Given the description of an element on the screen output the (x, y) to click on. 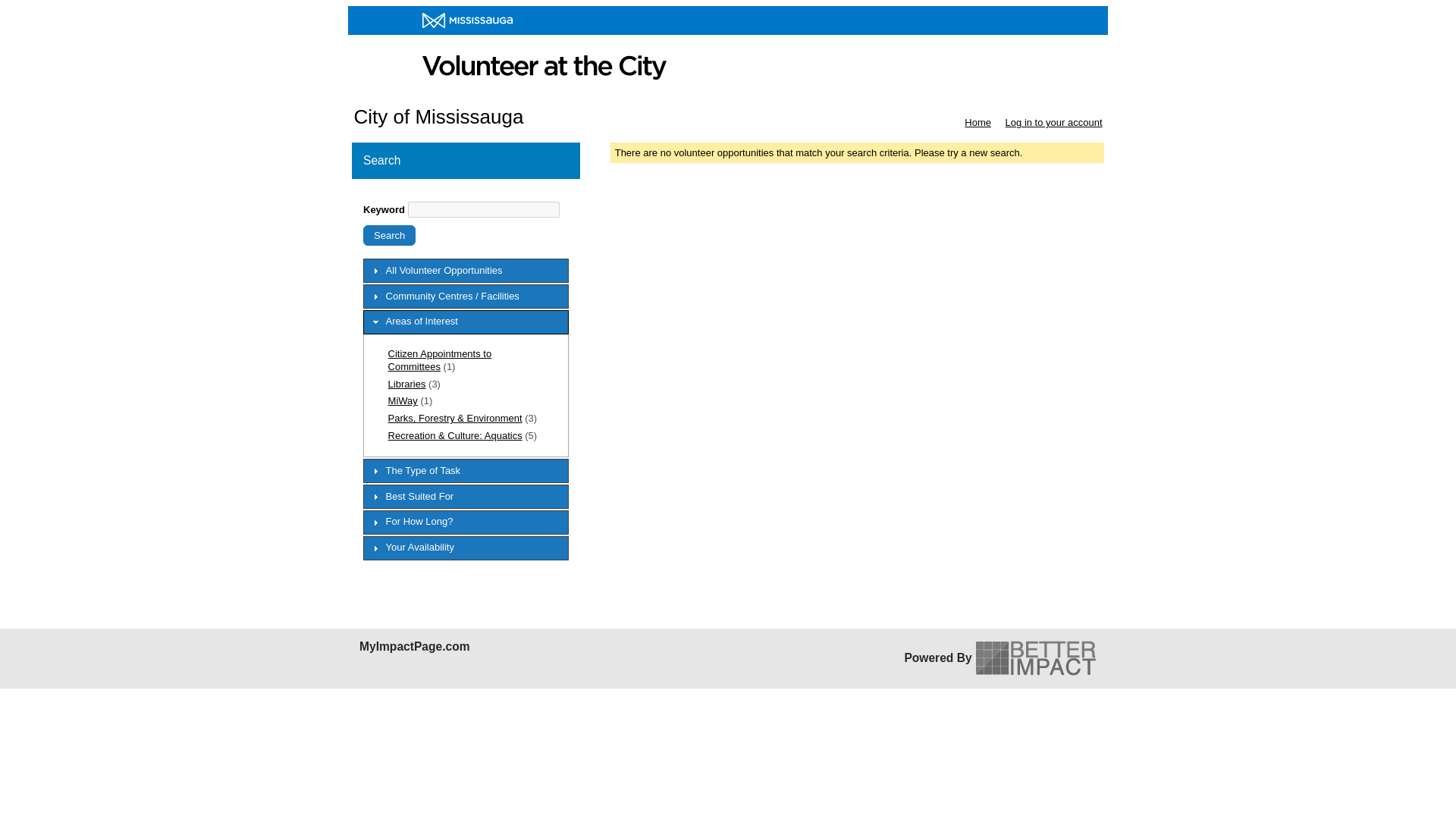
MiWay (402, 400)
Keyword (483, 209)
Search (388, 235)
Search (388, 235)
Citizen Appointments to Committees (440, 360)
Libraries (407, 383)
City of Mississauga's Home Page (727, 52)
Log in to your account (1054, 122)
Skip Search Section (406, 195)
Home (977, 122)
